Given the description of an element on the screen output the (x, y) to click on. 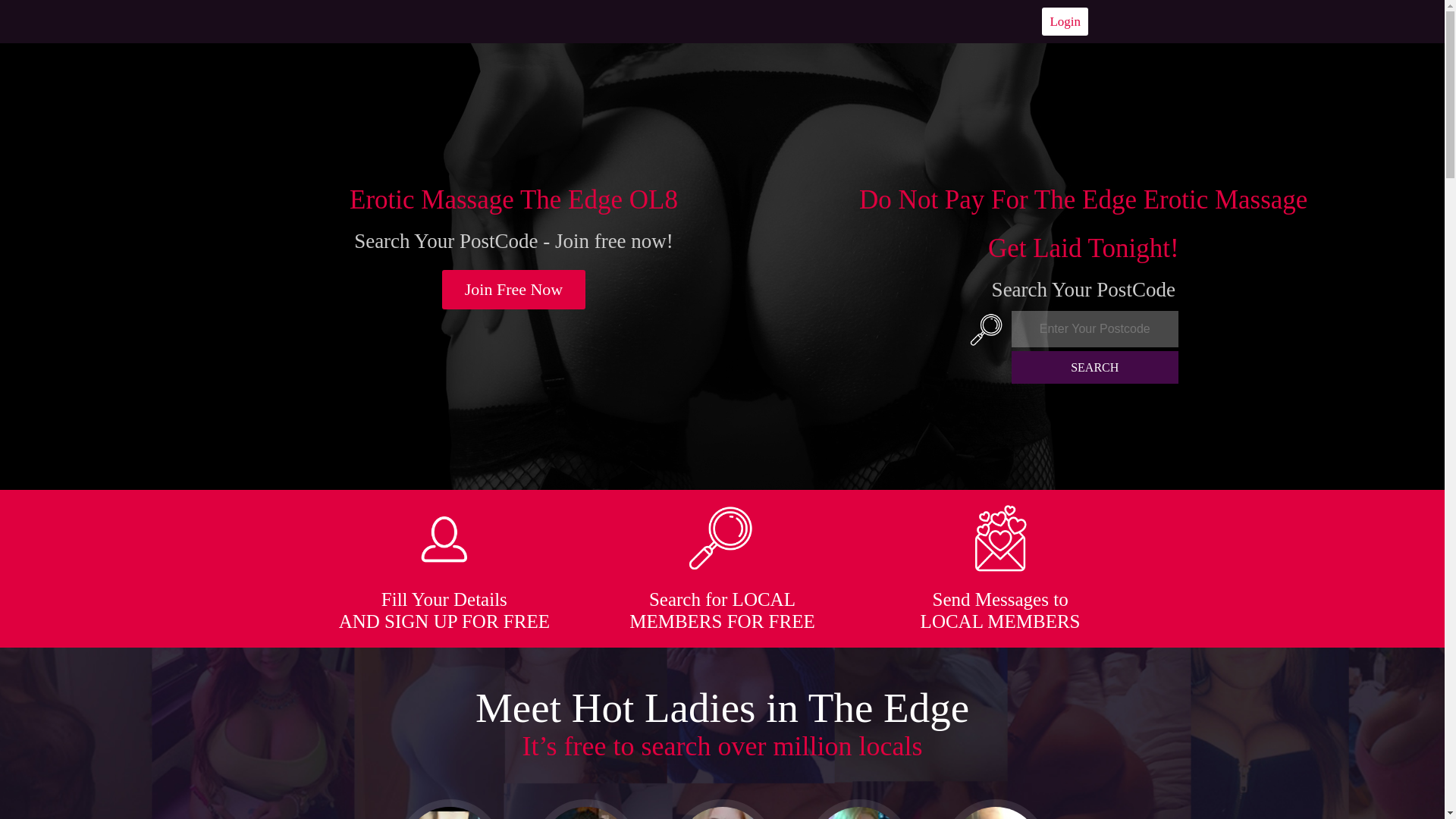
Join Free Now (514, 289)
Login (1064, 21)
Join (514, 289)
Login (1064, 21)
SEARCH (1094, 367)
